Given the description of an element on the screen output the (x, y) to click on. 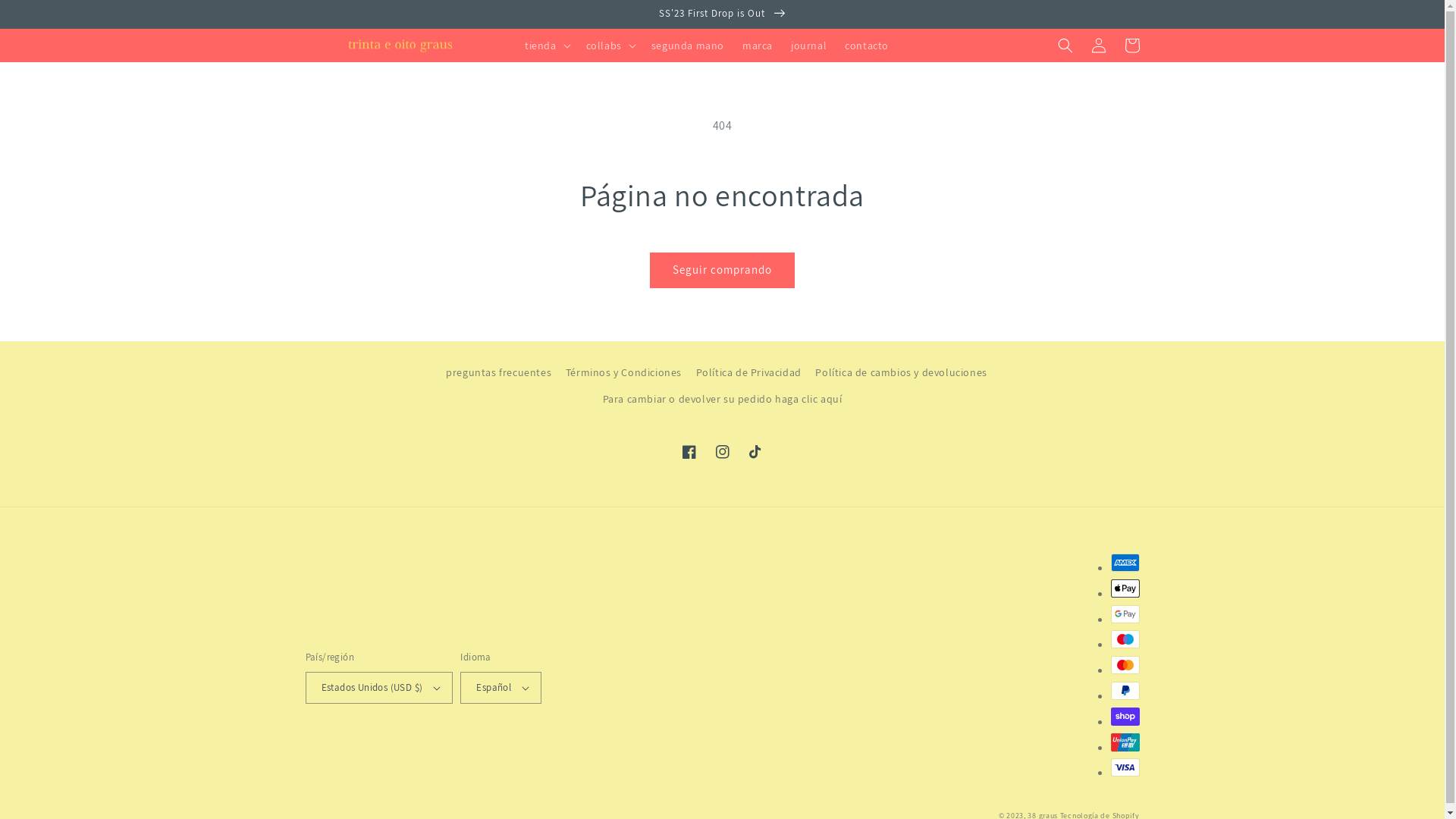
Instagram Element type: text (721, 451)
Estados Unidos (USD $) Element type: text (378, 687)
segunda mano Element type: text (687, 45)
TikTok Element type: text (754, 451)
marca Element type: text (757, 45)
preguntas frecuentes Element type: text (498, 374)
SS'23 First Drop is Out Element type: text (722, 14)
Facebook Element type: text (688, 451)
journal Element type: text (808, 45)
Seguir comprando Element type: text (721, 270)
contacto Element type: text (866, 45)
